Given the description of an element on the screen output the (x, y) to click on. 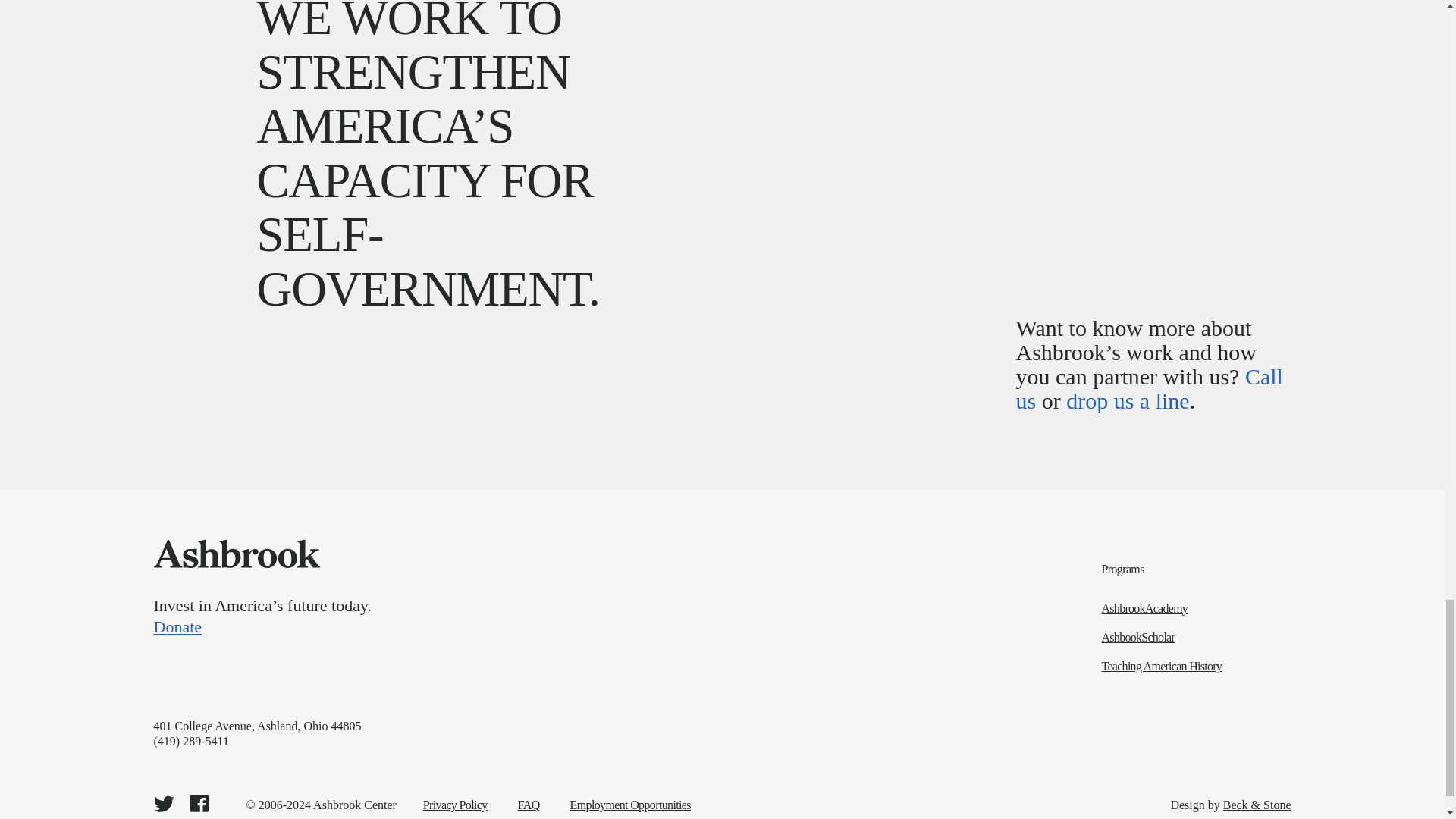
AshbookScholar (1196, 637)
AshbrookAcademy (1196, 608)
Employment Opportunities (630, 804)
drop us a line (1127, 400)
Donate (531, 626)
Teaching American History (1196, 666)
Call us (1149, 388)
Privacy Policy (455, 804)
FAQ (529, 804)
Ashbrook Center (235, 553)
